Given the description of an element on the screen output the (x, y) to click on. 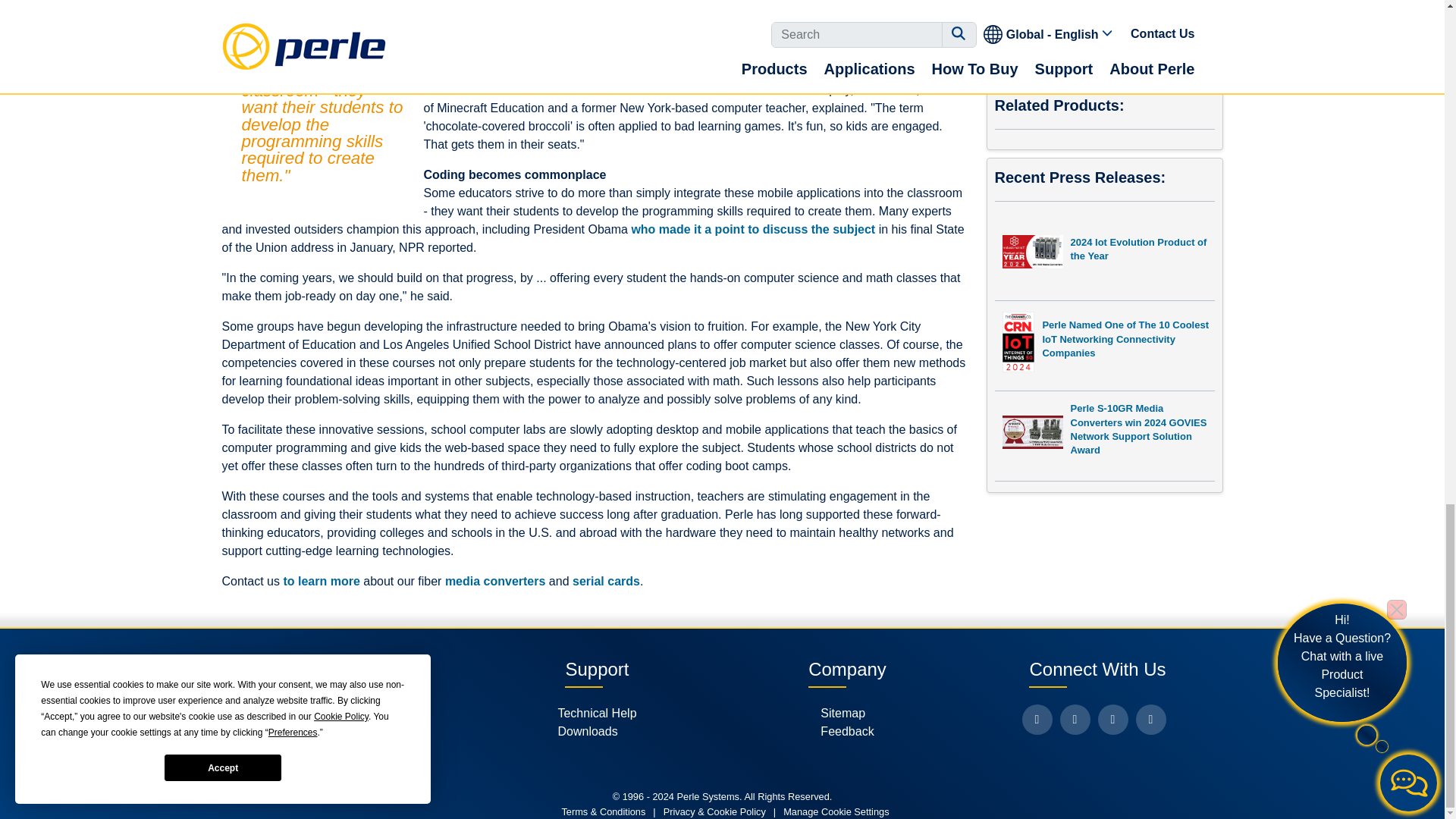
Technical Help (596, 713)
serial cards (606, 581)
Sitemap (847, 713)
Downloads (596, 731)
contact form (1254, 147)
Feedback (847, 731)
Facebook (1037, 719)
twiter (1074, 719)
In The News (346, 731)
Rss Feed (1150, 719)
media converters (495, 581)
Product Selector (346, 713)
LinkedIn (1112, 719)
to learn more (320, 581)
who made it a point to discuss the subject (752, 228)
